Given the description of an element on the screen output the (x, y) to click on. 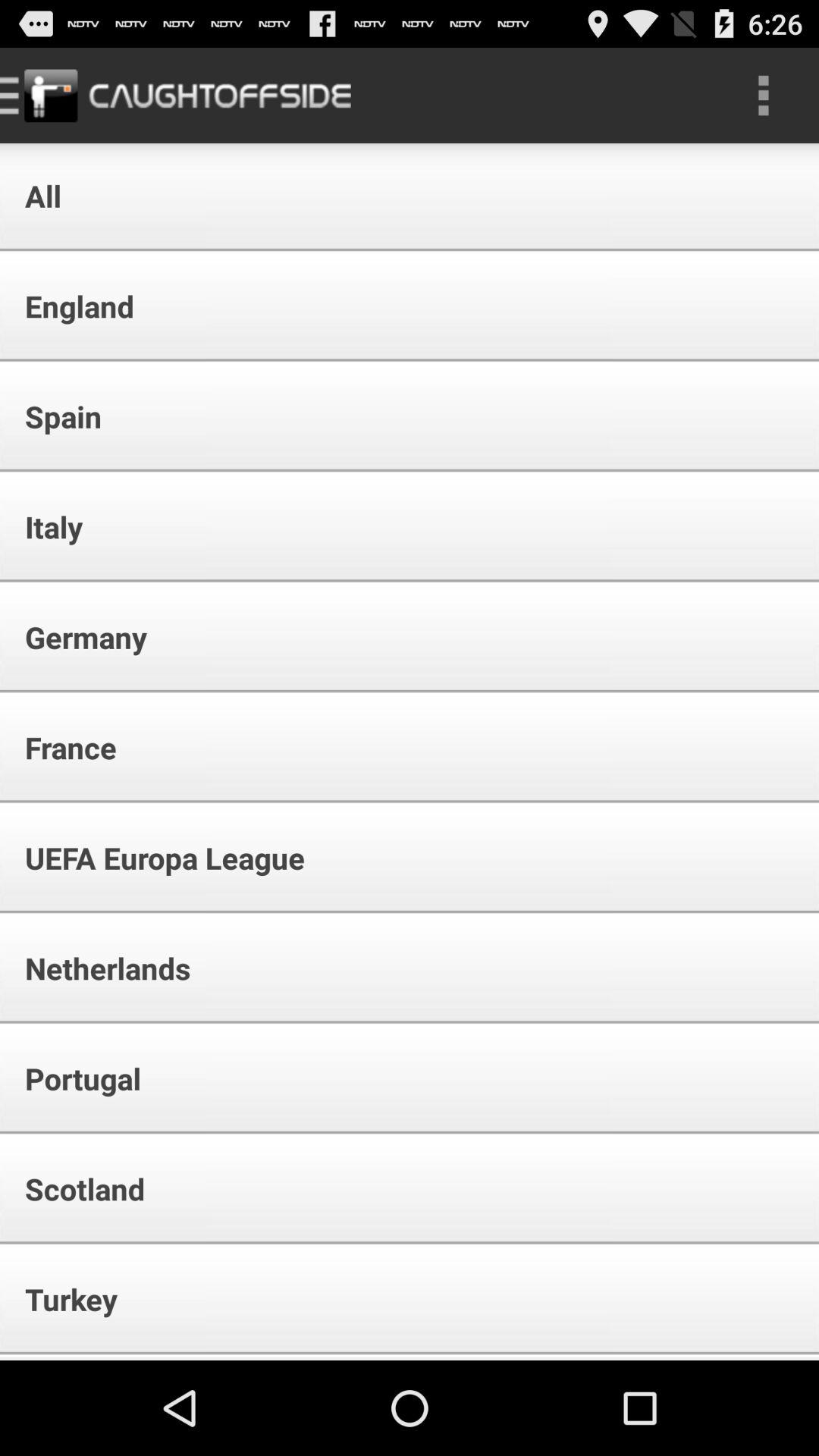
jump until turkey app (61, 1299)
